Given the description of an element on the screen output the (x, y) to click on. 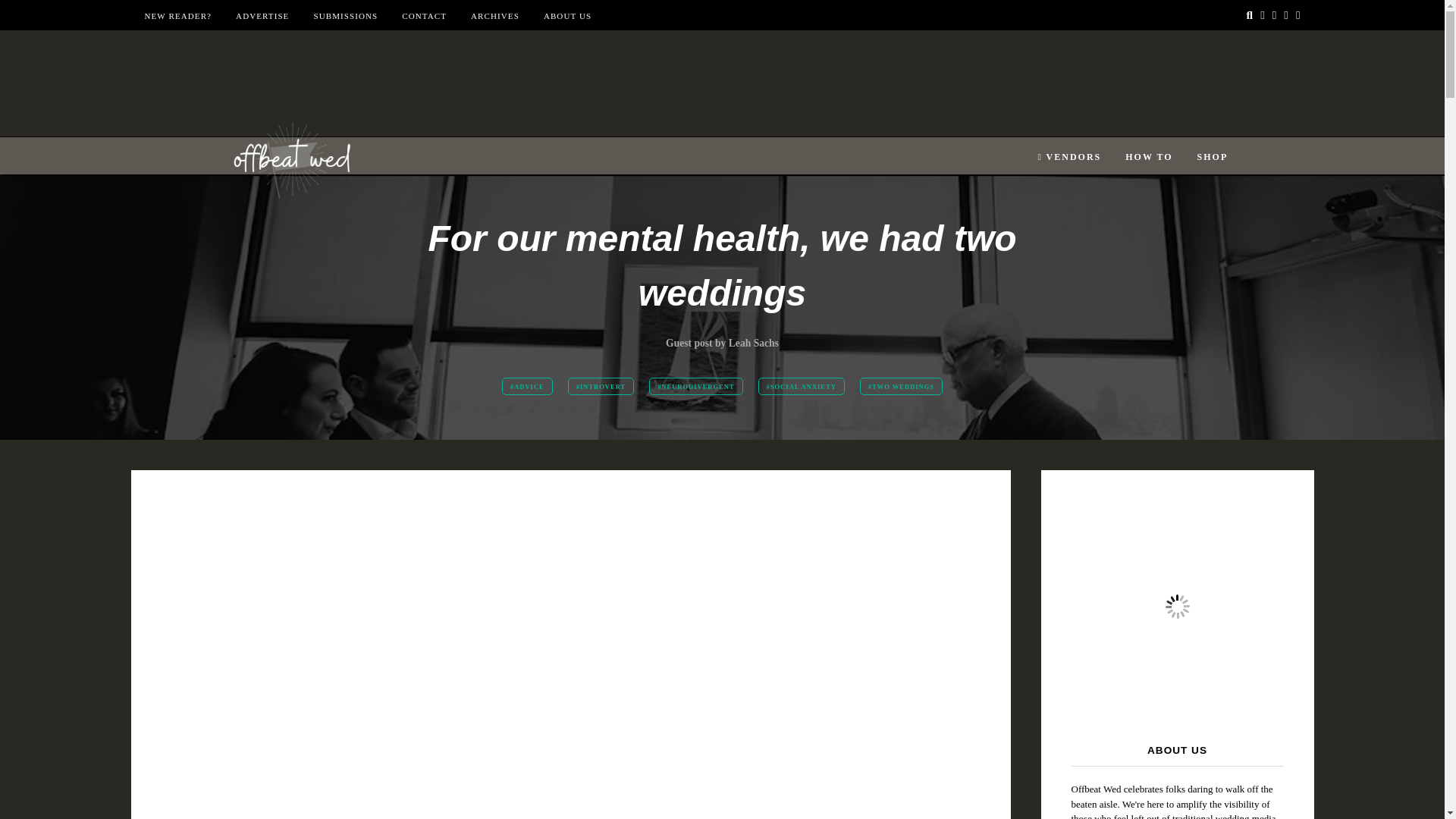
ADVERTISE (261, 15)
NEW READER? (177, 15)
CONTACT (423, 15)
HOW TO (1148, 157)
SUBMISSIONS (345, 15)
ABOUT US (567, 15)
ARCHIVES (494, 15)
